Given the description of an element on the screen output the (x, y) to click on. 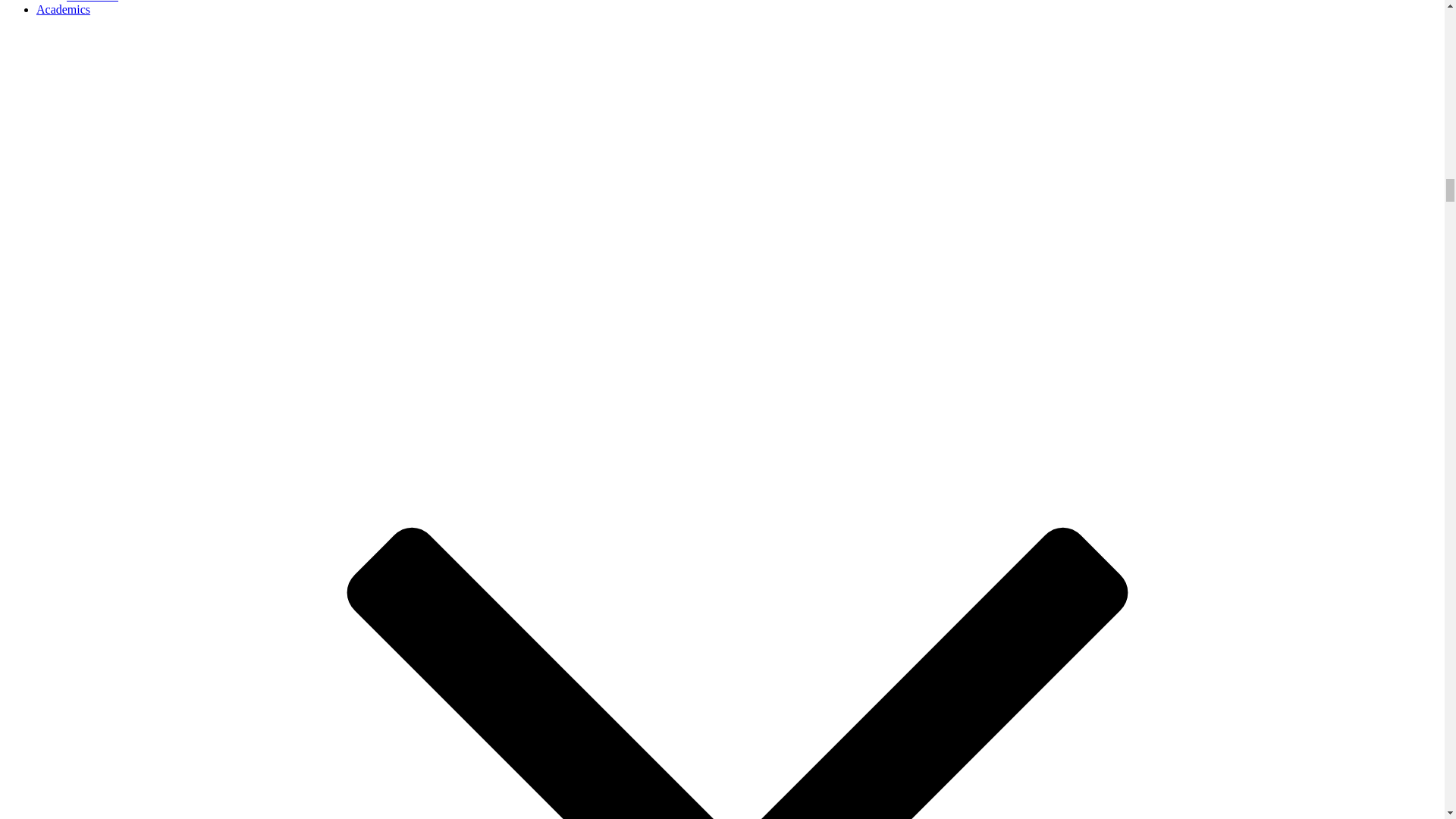
All Events (91, 1)
